Given the description of an element on the screen output the (x, y) to click on. 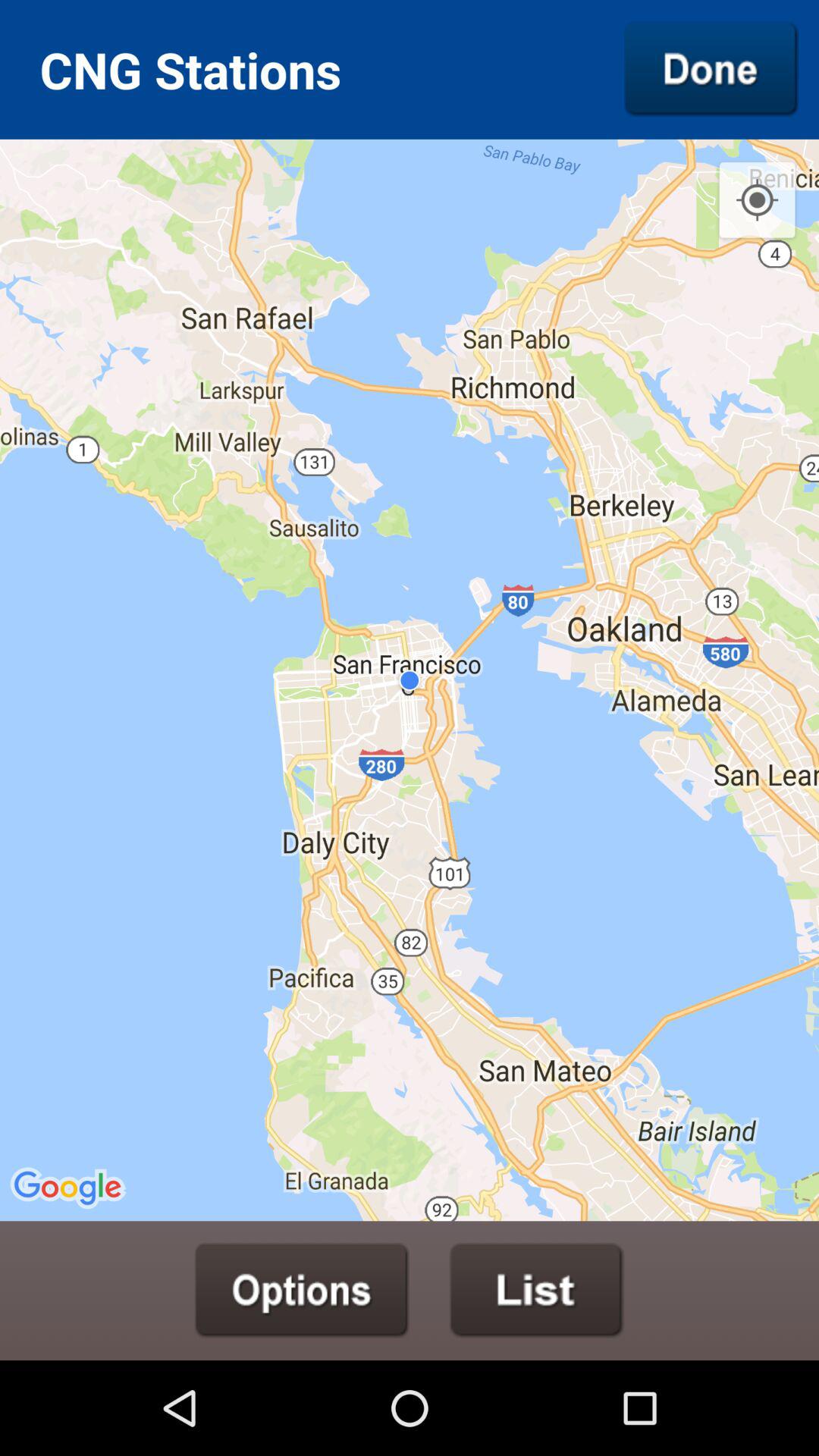
select options (301, 1290)
